Given the description of an element on the screen output the (x, y) to click on. 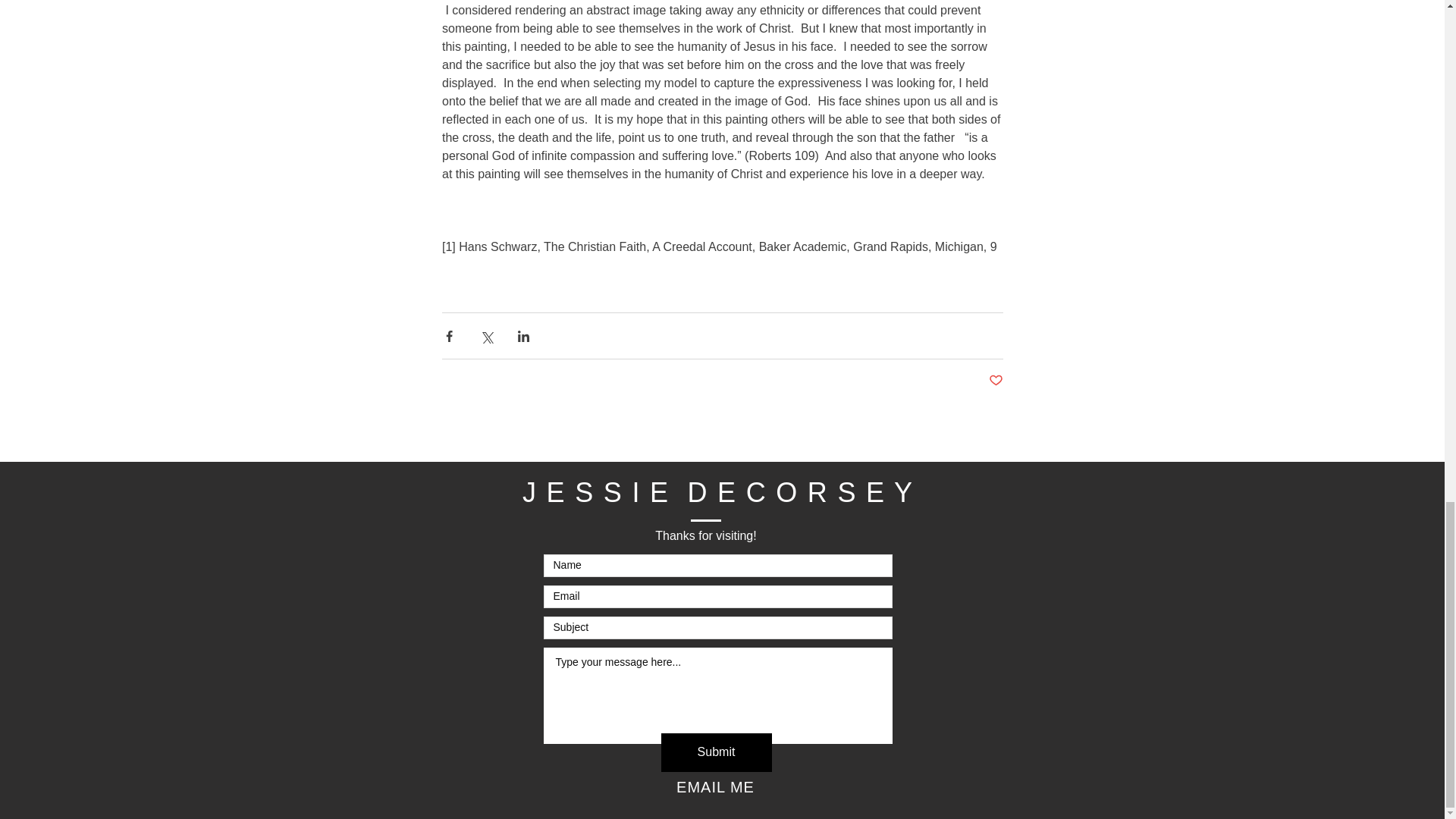
Submit (716, 752)
Post not marked as liked (995, 381)
